Given the description of an element on the screen output the (x, y) to click on. 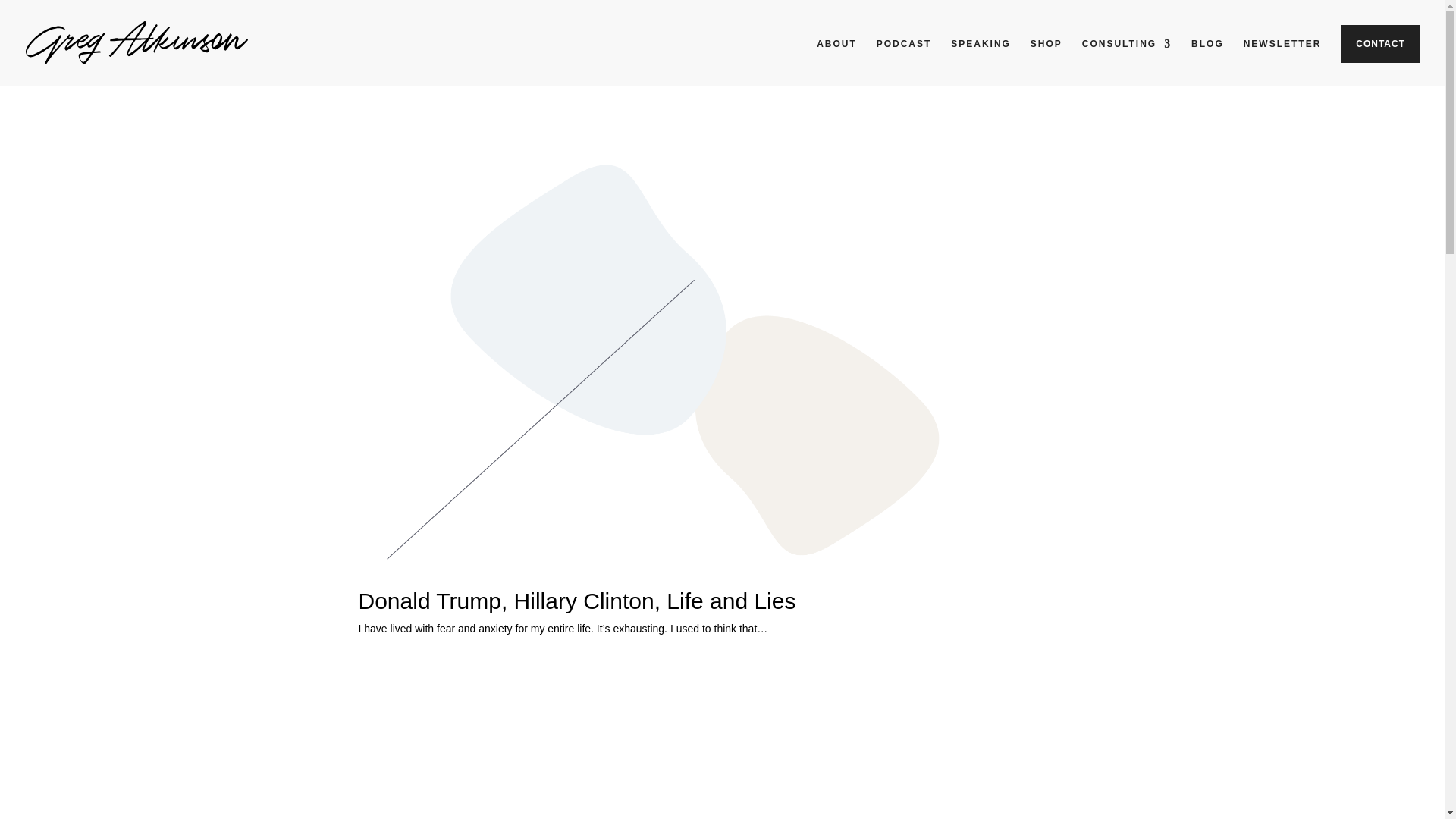
ABOUT (836, 56)
SPEAKING (980, 56)
CONTACT (1380, 44)
CONSULTING (1126, 56)
SHOP (1046, 56)
BLOG (1207, 56)
NEWSLETTER (1282, 56)
PODCAST (903, 56)
